Given the description of an element on the screen output the (x, y) to click on. 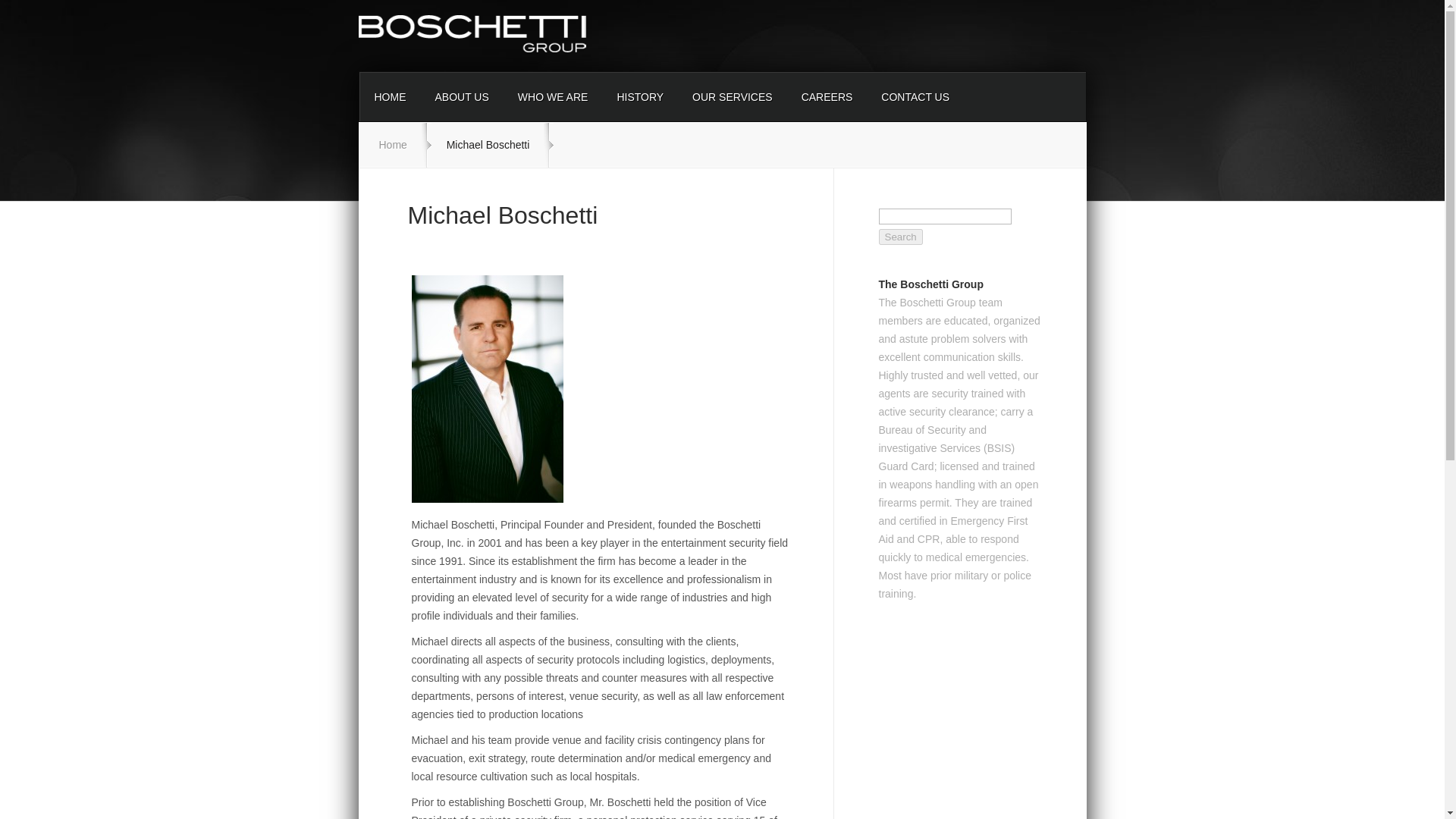
HOME (389, 96)
Search (899, 236)
CONTACT US (914, 96)
CAREERS (827, 96)
HISTORY (640, 96)
OUR SERVICES (732, 96)
Search (899, 236)
ABOUT US (461, 96)
WHO WE ARE (552, 96)
Home (392, 144)
